Given the description of an element on the screen output the (x, y) to click on. 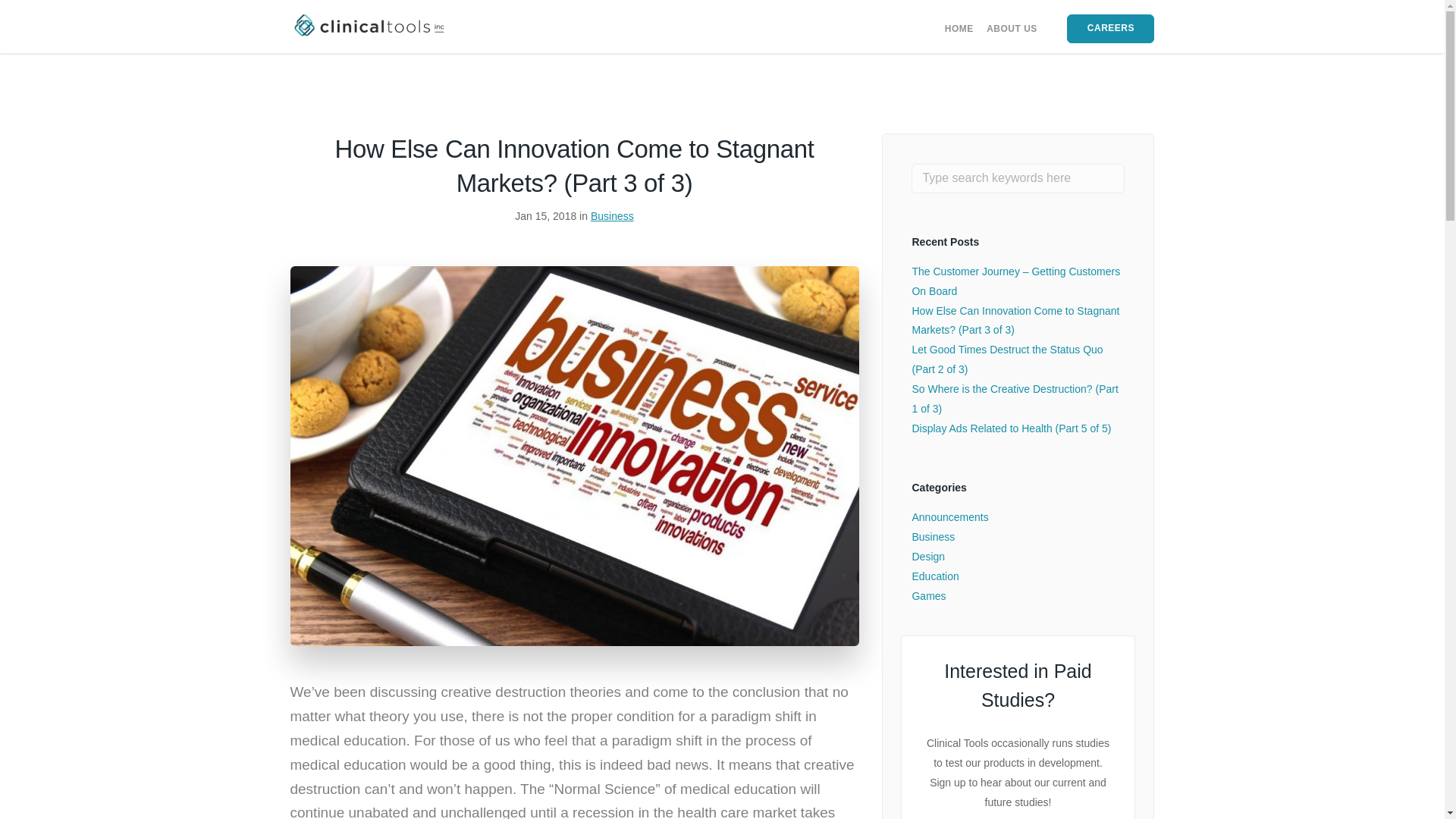
Announcements (949, 517)
Business (933, 536)
Education (934, 576)
Design (927, 556)
Games (927, 595)
ABOUT US (1011, 28)
CAREERS (1110, 28)
Business (612, 215)
HOME (959, 28)
